Given the description of an element on the screen output the (x, y) to click on. 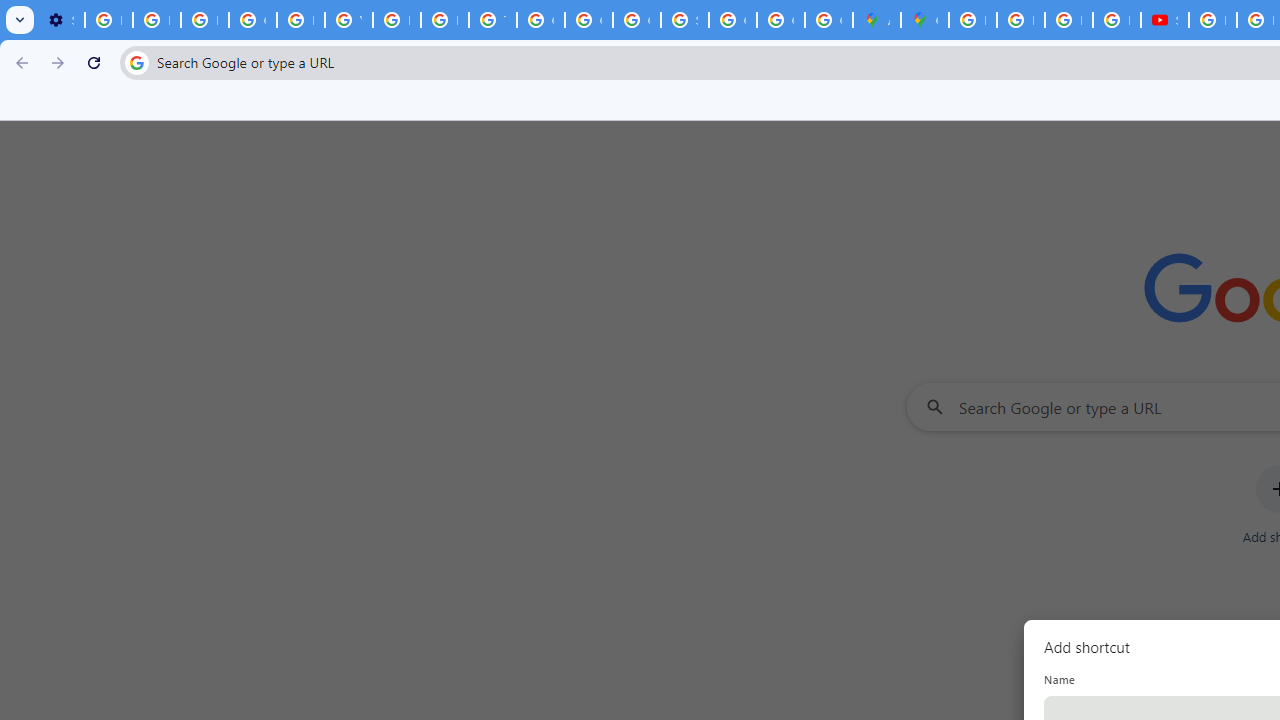
Delete photos & videos - Computer - Google Photos Help (108, 20)
Blogger Policies and Guidelines - Transparency Center (972, 20)
YouTube (348, 20)
Google Account Help (252, 20)
Privacy Help Center - Policies Help (1020, 20)
Subscriptions - YouTube (1164, 20)
Privacy Help Center - Policies Help (300, 20)
Sign in - Google Accounts (684, 20)
